Given the description of an element on the screen output the (x, y) to click on. 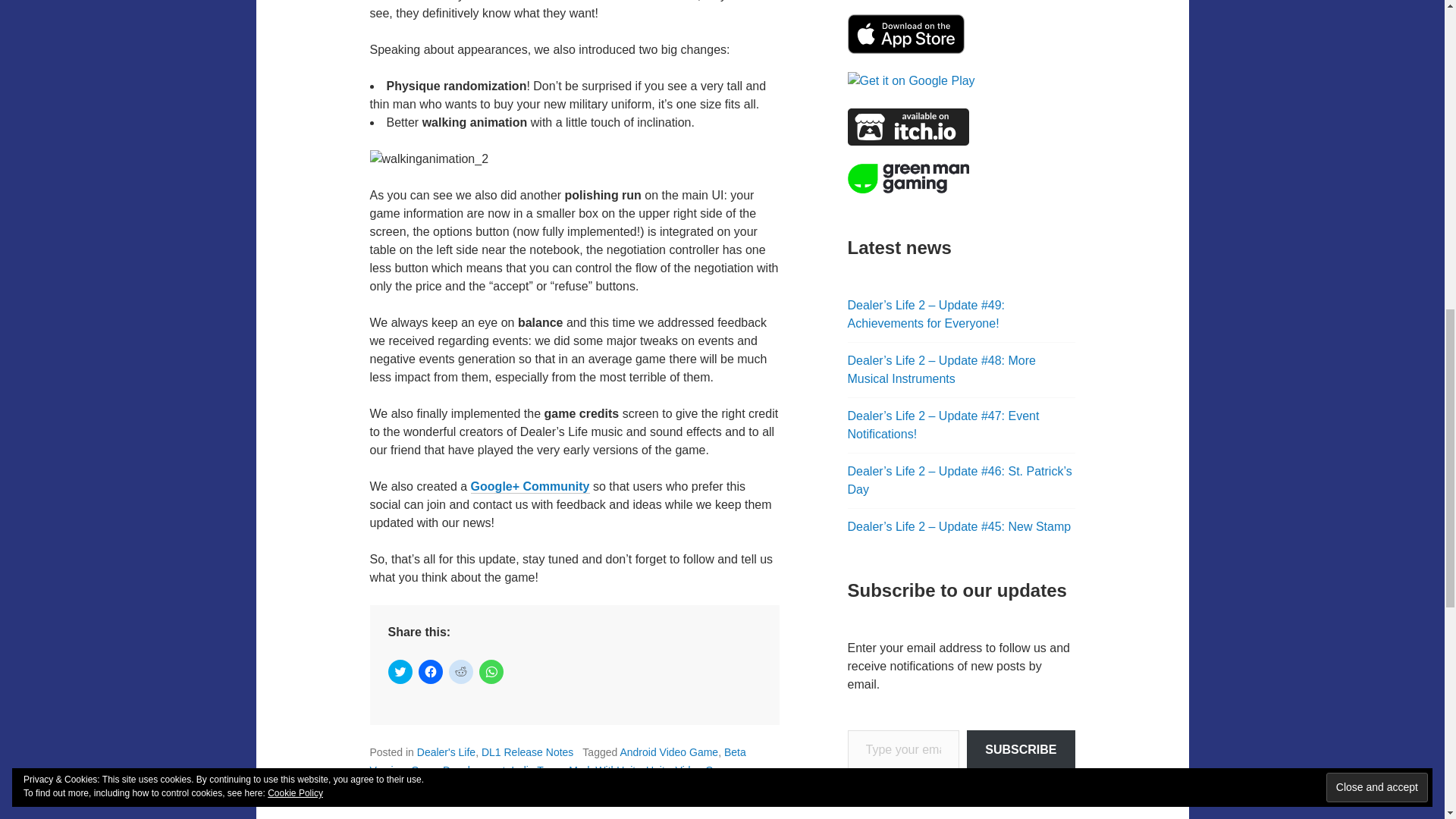
Click to share on Reddit (460, 671)
Click to share on Facebook (430, 671)
Unity (657, 770)
Indie Team (536, 770)
Click to share on WhatsApp (491, 671)
Beta Version (557, 761)
Click to share on Twitter (400, 671)
MadeWithUnity (604, 770)
Please fill in this field. (903, 750)
Android Video Game (668, 752)
